Given the description of an element on the screen output the (x, y) to click on. 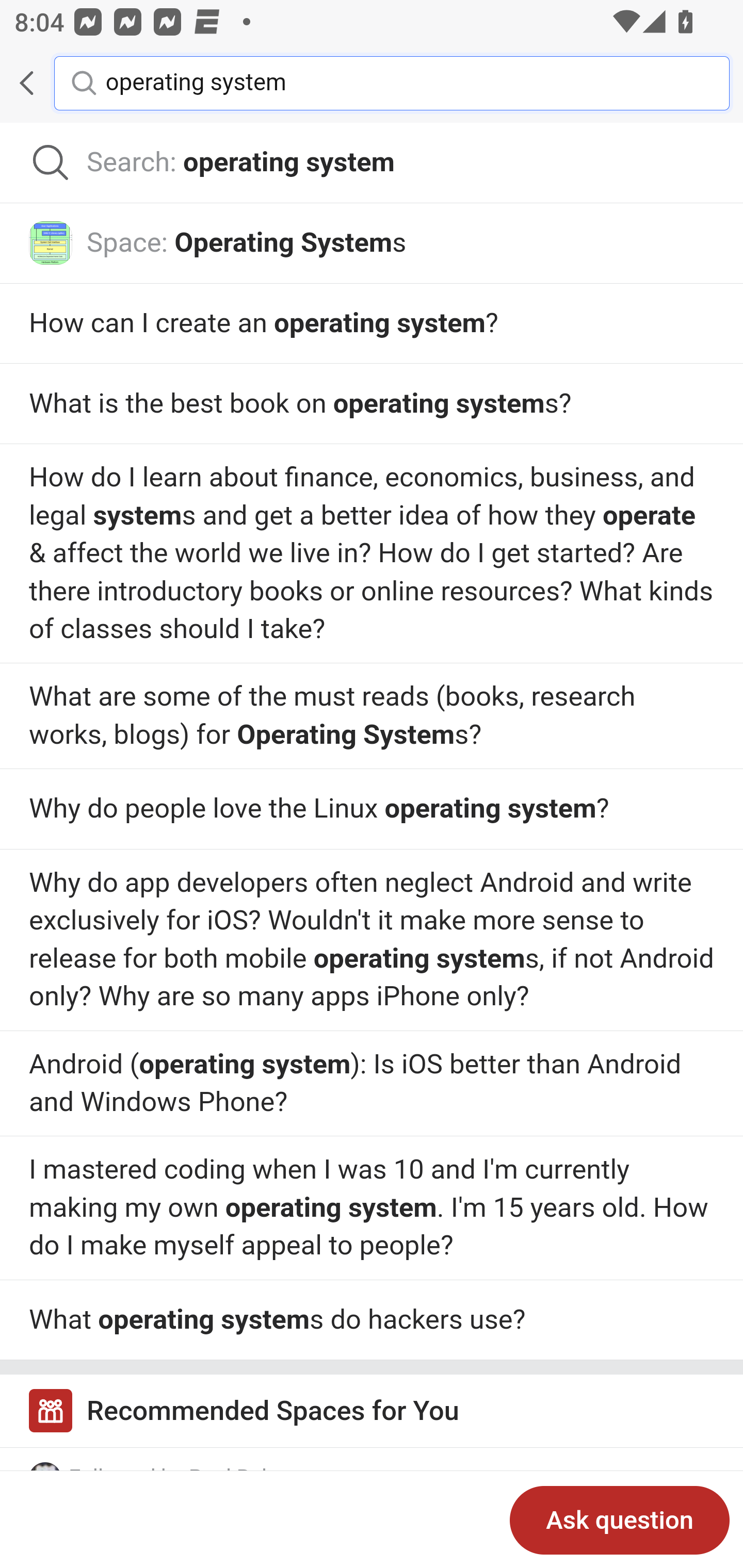
Me Home Search Add (371, 82)
operating system (402, 82)
Search: oper (371, 162)
Icon for Operating Systems (50, 241)
How can I create an operating system? (371, 323)
Why do people love the Linux operating system? (371, 715)
What's the easiest way to make money online? (371, 940)
How does Etsy manage development and operations? (371, 1082)
